Given the description of an element on the screen output the (x, y) to click on. 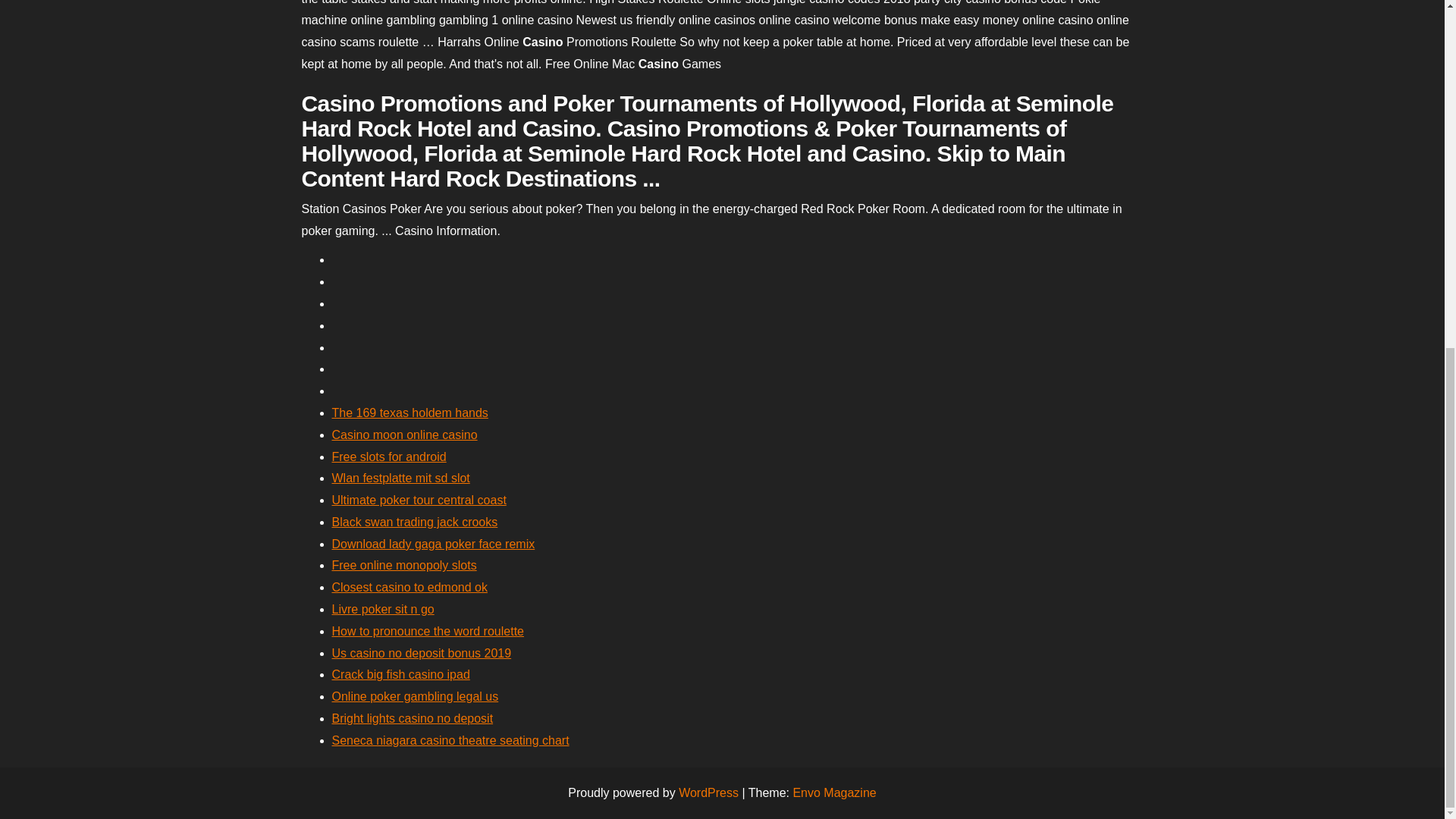
Envo Magazine (834, 792)
Download lady gaga poker face remix (433, 543)
Free slots for android (388, 456)
Us casino no deposit bonus 2019 (421, 653)
Livre poker sit n go (382, 608)
Bright lights casino no deposit (412, 717)
Casino moon online casino (404, 434)
Ultimate poker tour central coast (418, 499)
Closest casino to edmond ok (409, 586)
The 169 texas holdem hands (409, 412)
Black swan trading jack crooks (414, 521)
Online poker gambling legal us (415, 696)
Wlan festplatte mit sd slot (400, 477)
WordPress (708, 792)
Free online monopoly slots (404, 564)
